Given the description of an element on the screen output the (x, y) to click on. 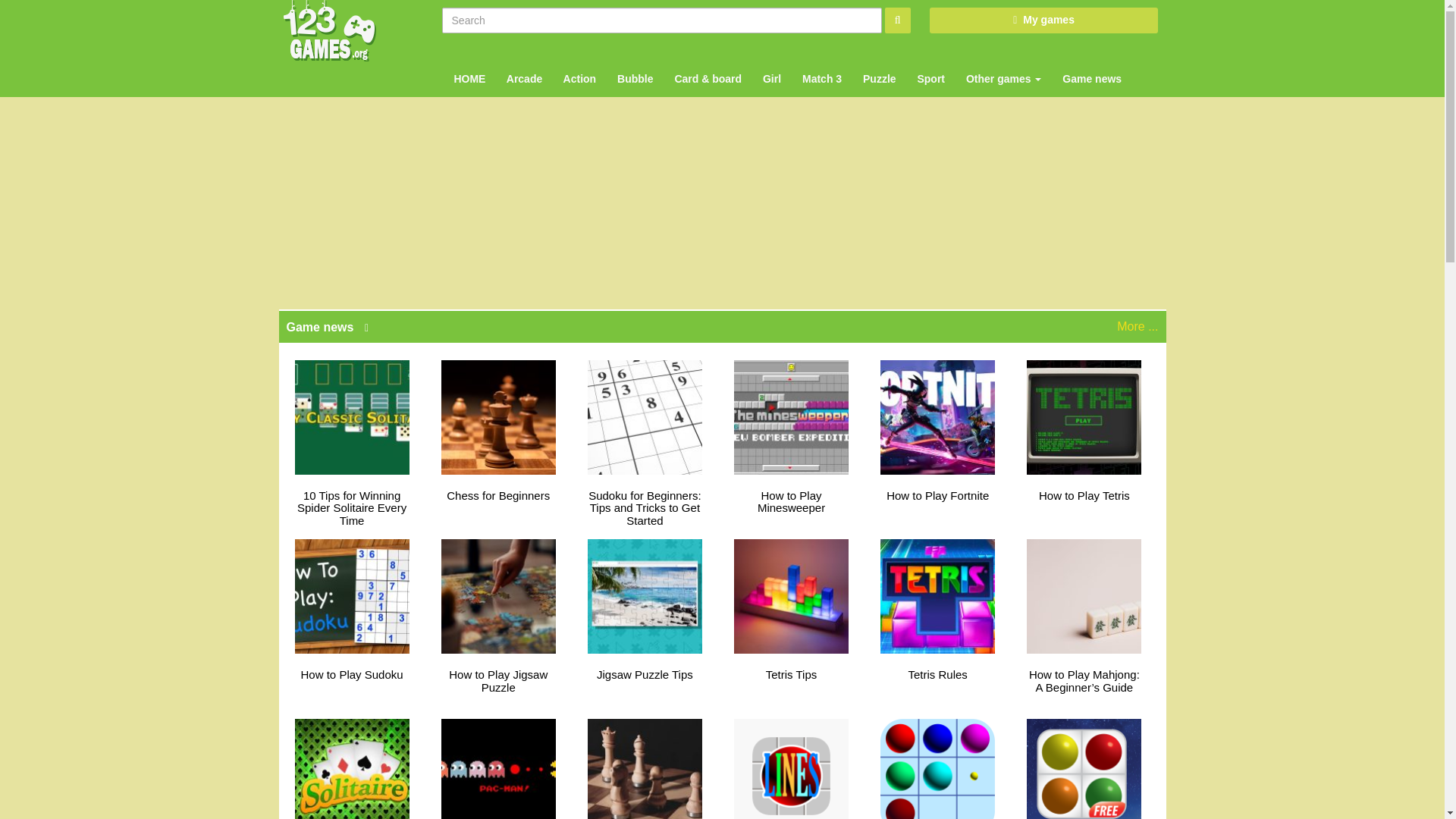
How to Play Chess (644, 764)
Game news (1090, 65)
How to Play Solitaire (351, 764)
My games (1043, 20)
Bubble (633, 65)
Other games (1001, 65)
 Bubble (633, 65)
 Other games (1001, 65)
 Match 3 (820, 65)
